Given the description of an element on the screen output the (x, y) to click on. 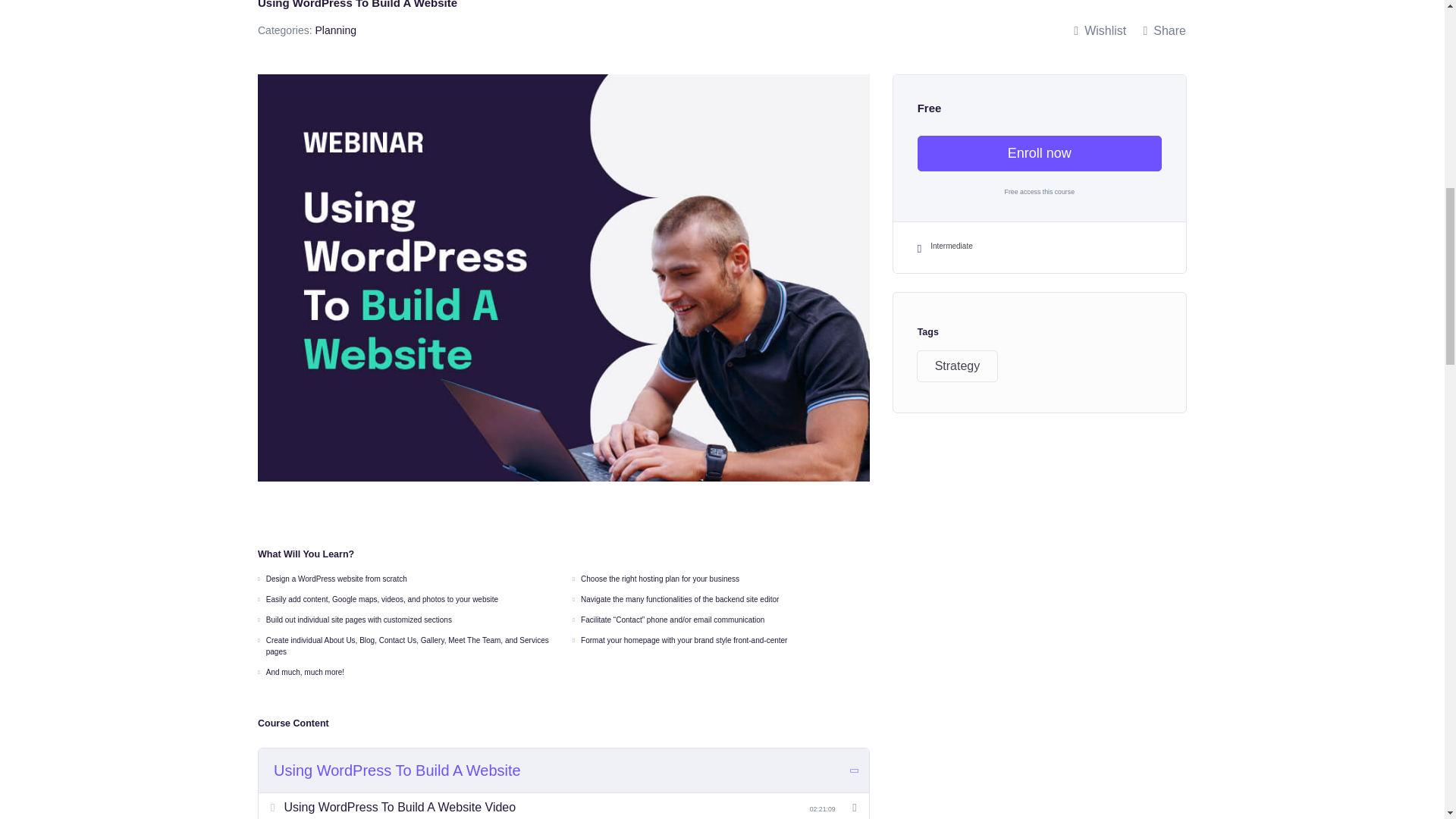
Planning (335, 30)
Wishlist (1099, 31)
Share (1163, 31)
Enroll now (1039, 153)
